Given the description of an element on the screen output the (x, y) to click on. 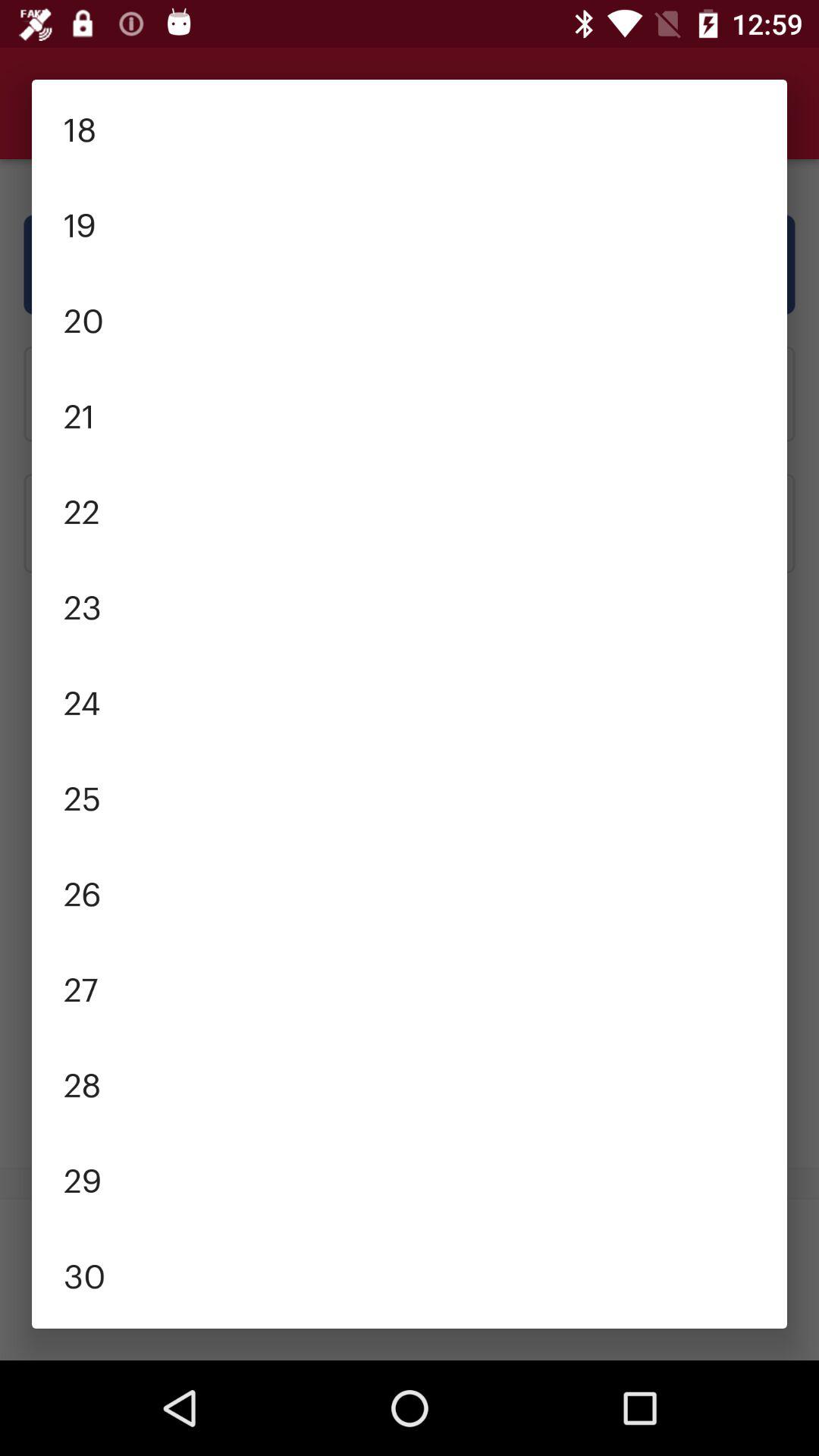
open the 23 item (409, 604)
